Given the description of an element on the screen output the (x, y) to click on. 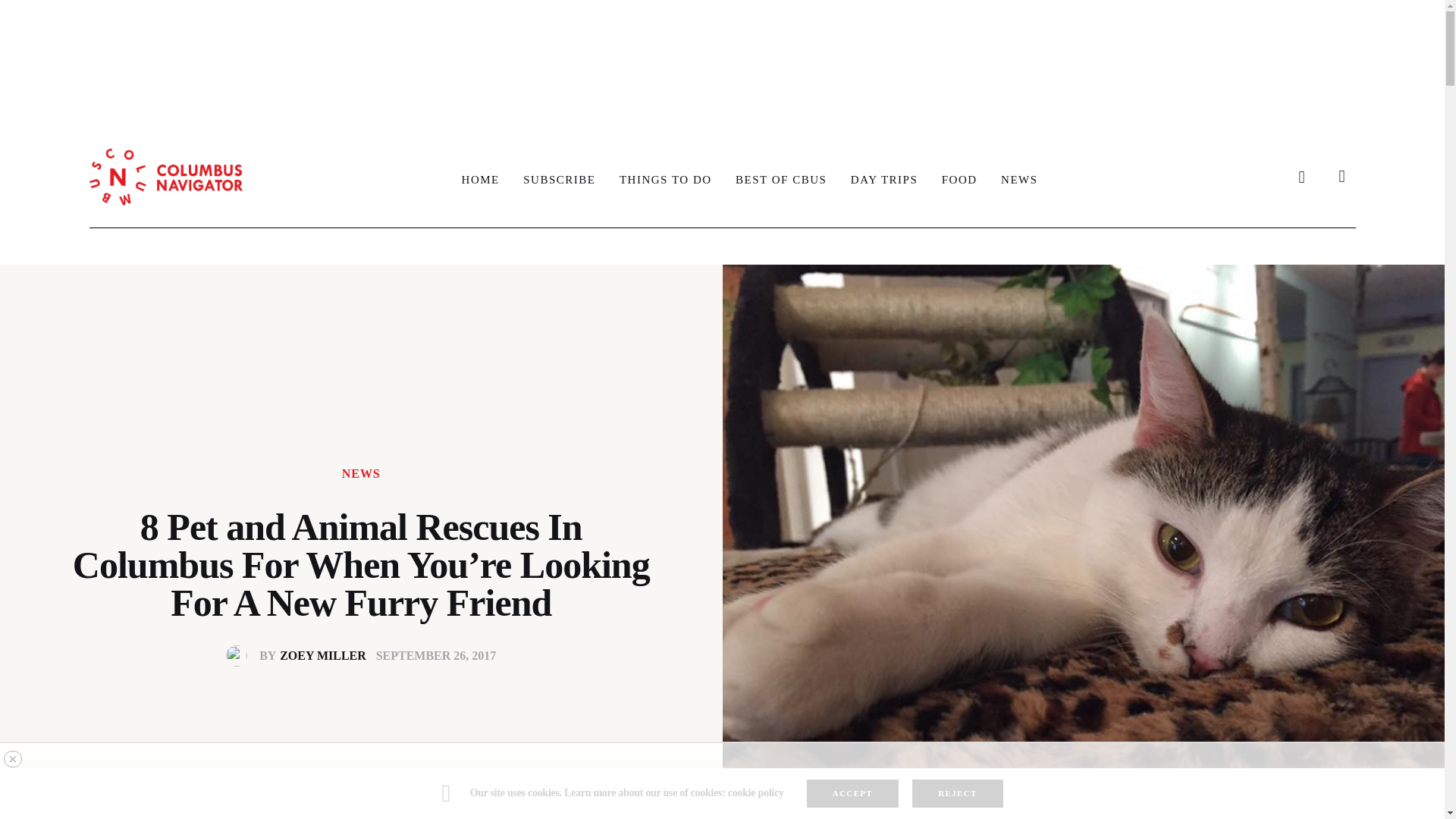
BEST OF CBUS (300, 654)
SUBSCRIBE (780, 178)
3rd party ad content (559, 178)
NEWS (721, 56)
THINGS TO DO (1018, 178)
FOOD (665, 178)
HOME (959, 178)
DAY TRIPS (480, 178)
NEWS (884, 178)
